Given the description of an element on the screen output the (x, y) to click on. 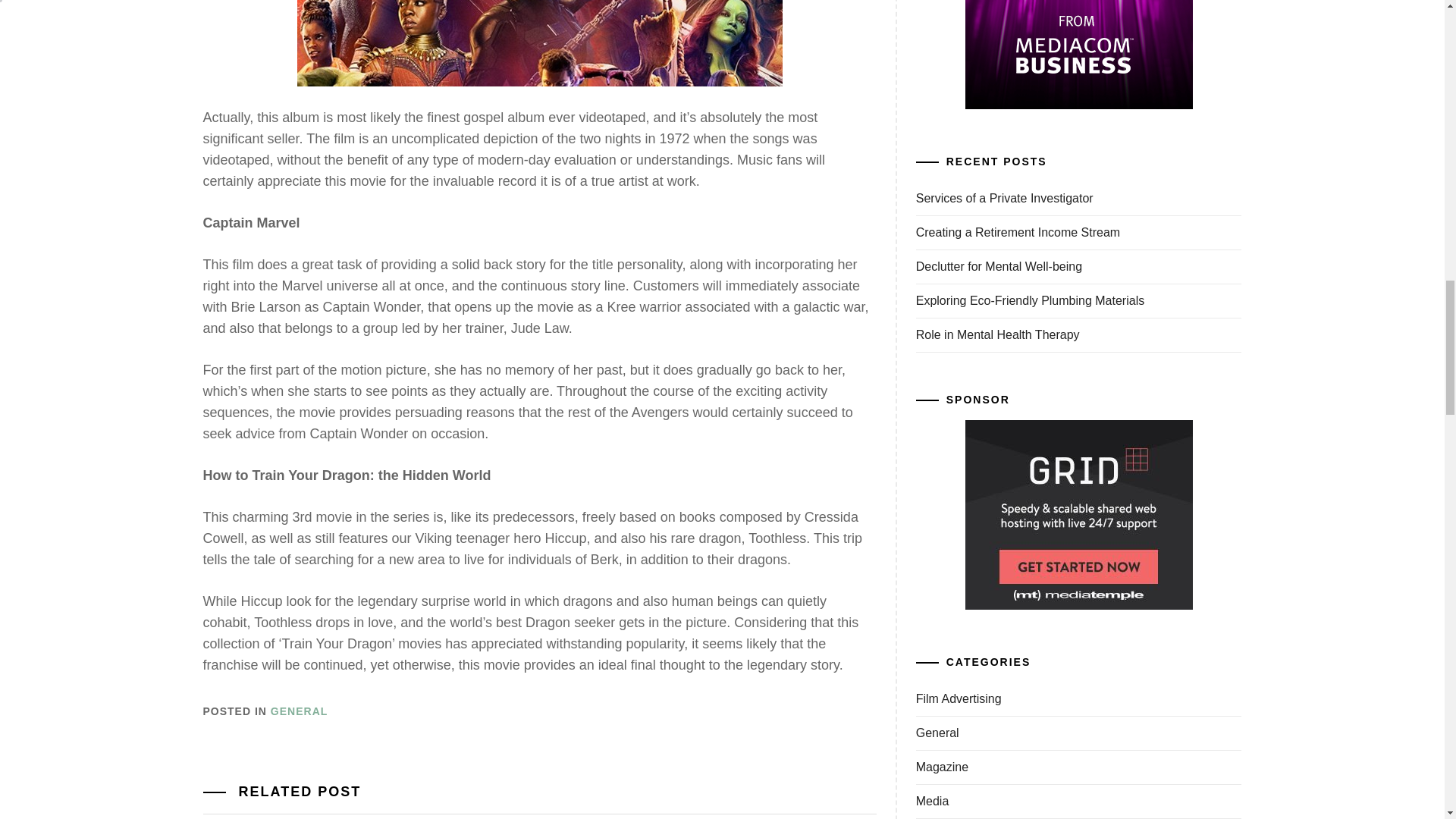
GENERAL (298, 711)
